Given the description of an element on the screen output the (x, y) to click on. 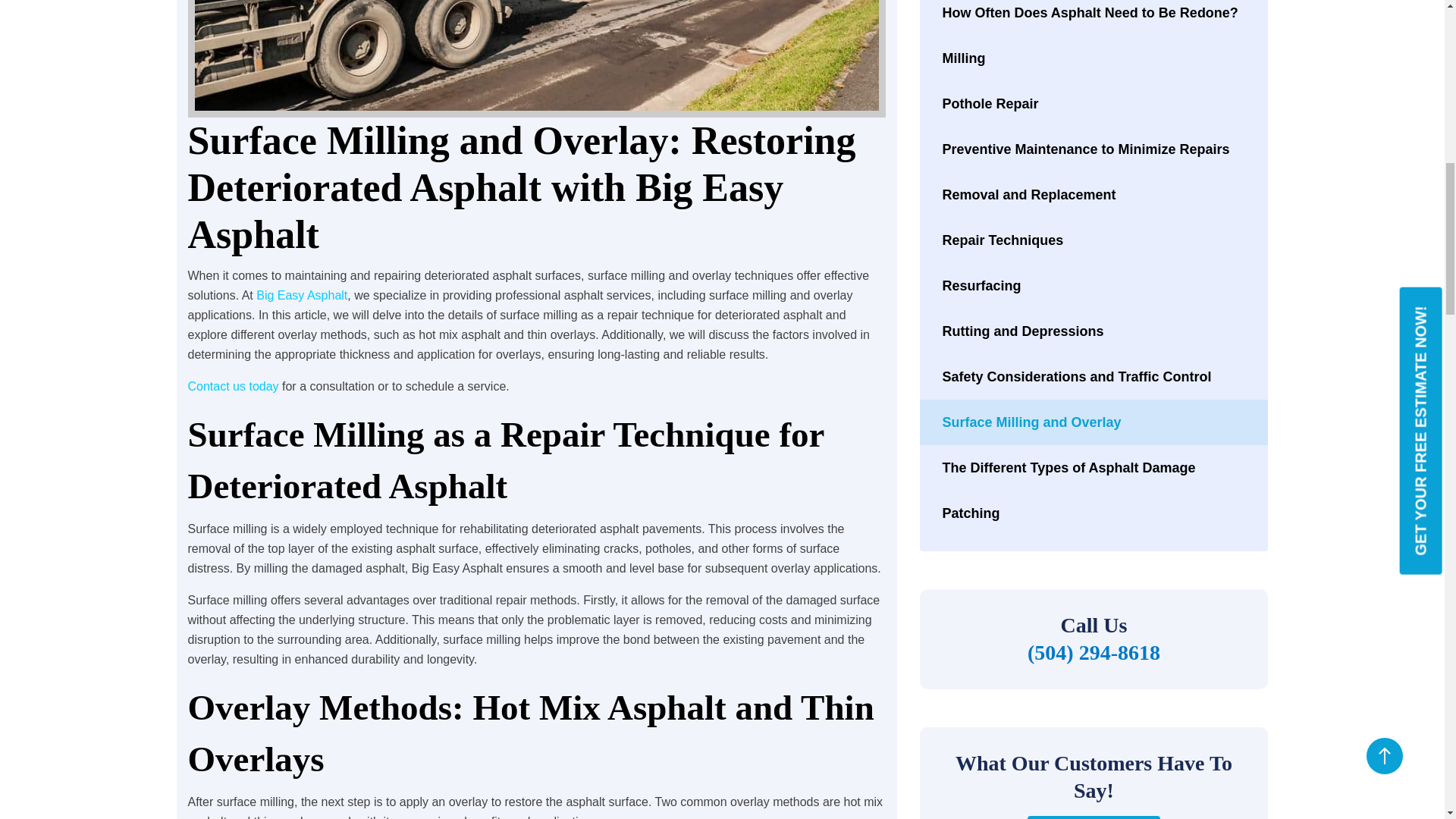
Contact us today (233, 386)
Asphalt Milling in New Orleans From Big Easy Asphalt (536, 58)
Big Easy Asphalt (301, 295)
